Given the description of an element on the screen output the (x, y) to click on. 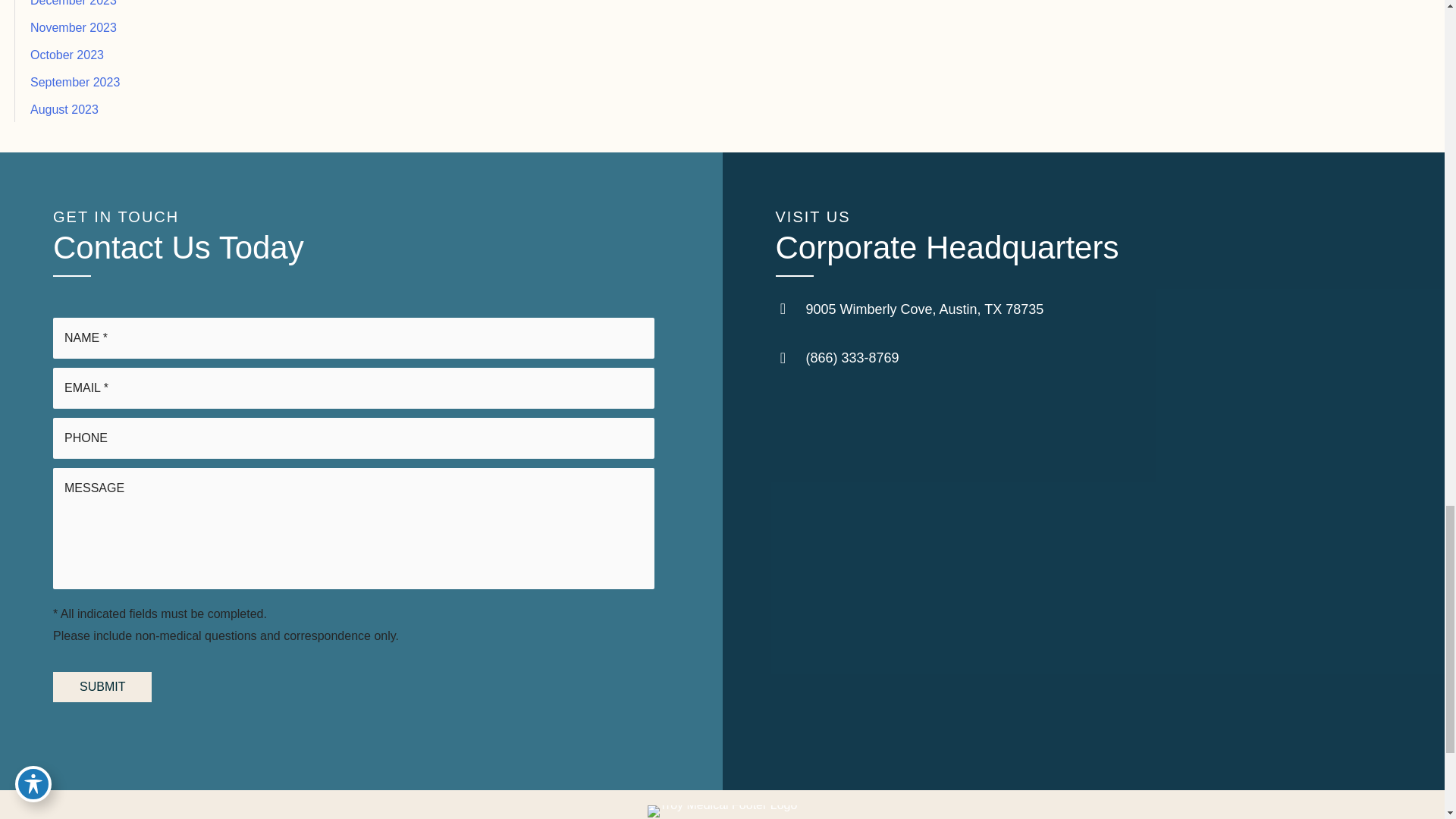
Troy Medical Footer Logo (722, 811)
Submit (101, 686)
